Given the description of an element on the screen output the (x, y) to click on. 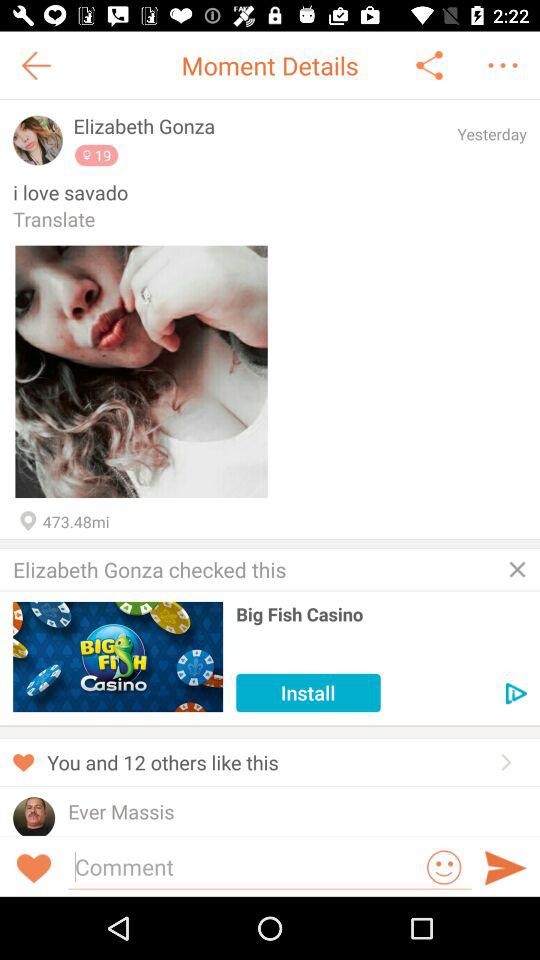
hide moment (517, 569)
